Given the description of an element on the screen output the (x, y) to click on. 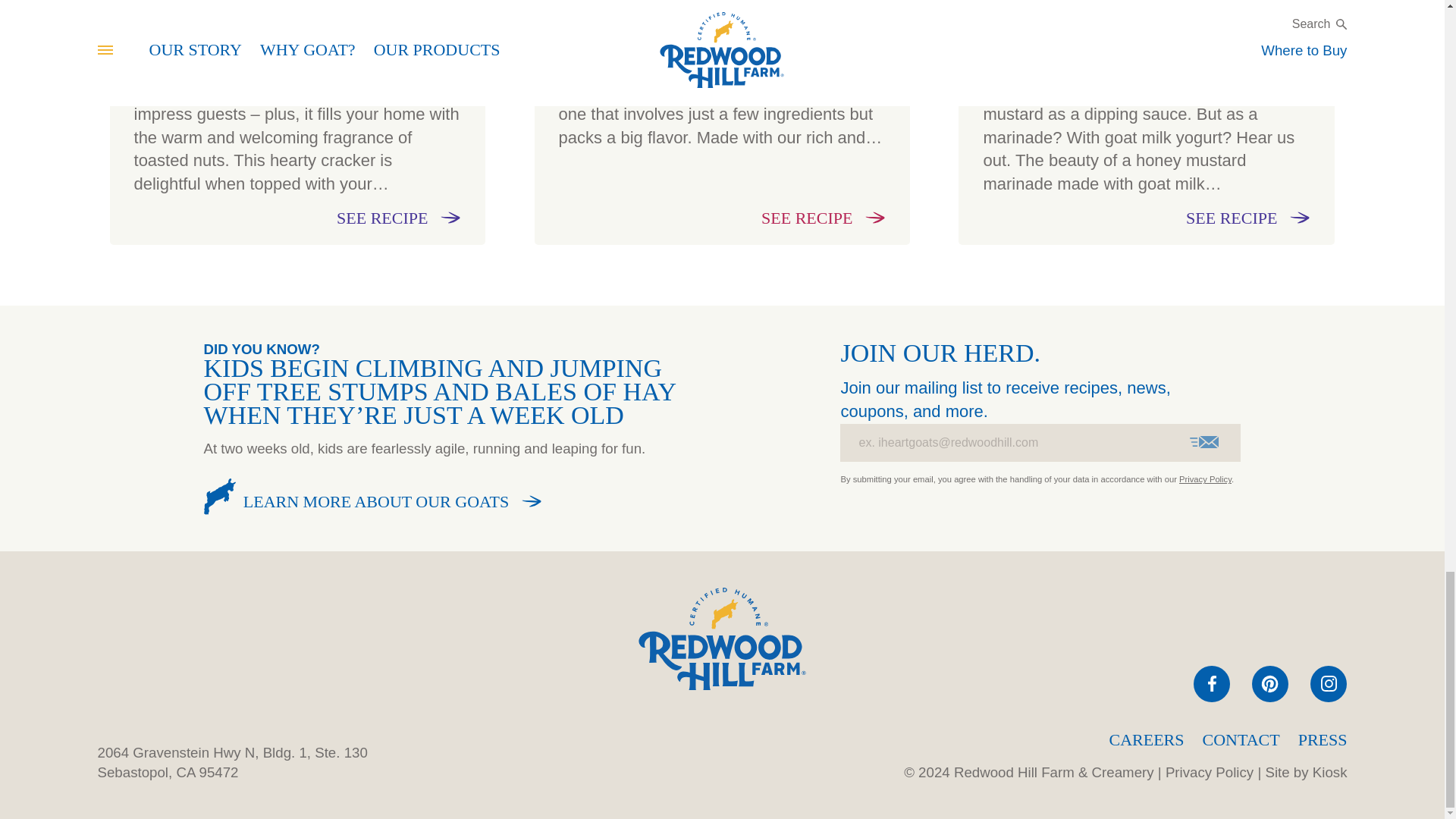
Submit (1204, 441)
